Given the description of an element on the screen output the (x, y) to click on. 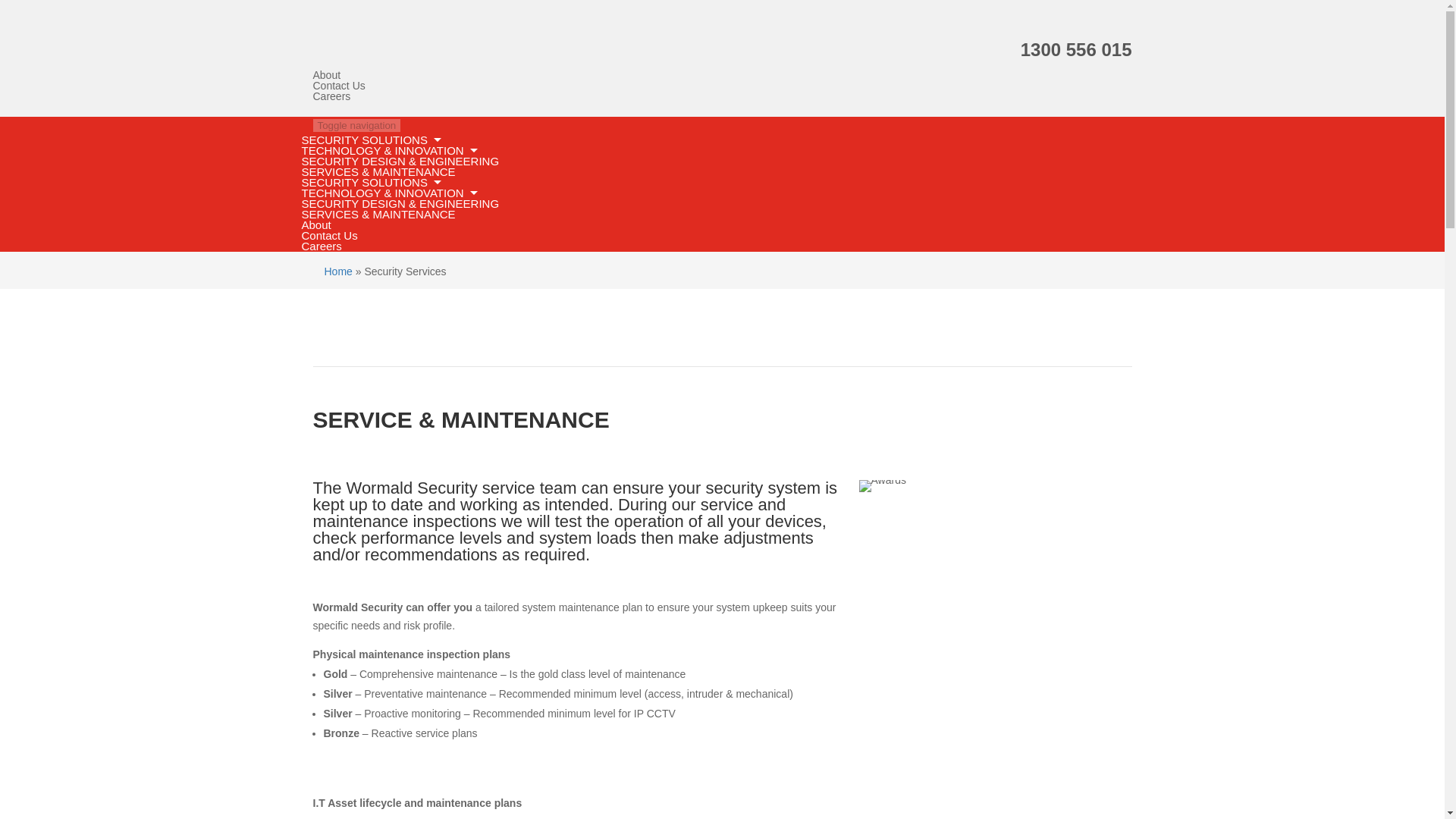
Wormald Security Awards (882, 485)
Contact Us (329, 235)
Home (338, 271)
1300 556 015 (1076, 49)
SECURITY SOLUTIONS (368, 182)
About (326, 74)
SECURITY SOLUTIONS (368, 139)
Careers (321, 245)
Contact Us (339, 85)
Careers (331, 96)
